Given the description of an element on the screen output the (x, y) to click on. 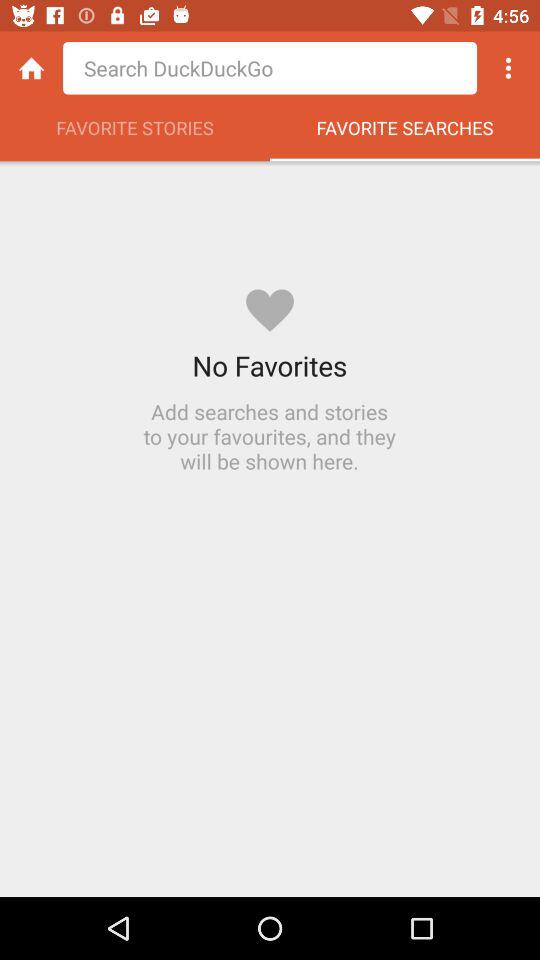
tap item next to the favorite searches app (135, 133)
